Given the description of an element on the screen output the (x, y) to click on. 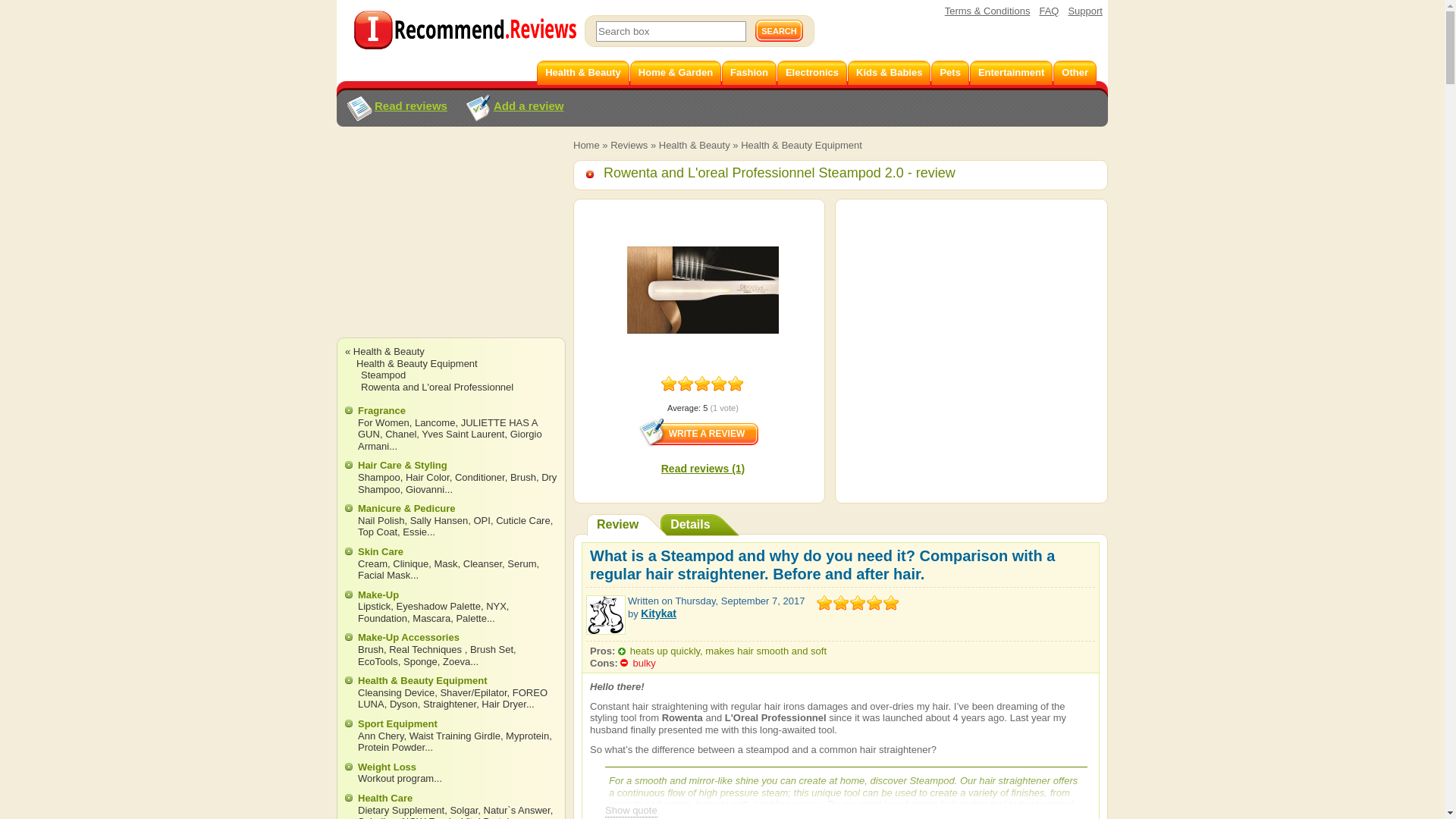
Pets (949, 72)
Details (699, 525)
Entertainment (1010, 72)
Write a review (697, 431)
FAQ (1048, 10)
Advertisement (971, 313)
Rowenta and L'oreal Professionnel Steampod 2.0 - review (770, 172)
Search (779, 30)
Kitykat (658, 613)
Write a review (697, 431)
Advertisement (450, 246)
Review (626, 525)
Read reviews (396, 109)
Rowenta and L'oreal Professionnel  Steampod 2.0  (702, 290)
